Given the description of an element on the screen output the (x, y) to click on. 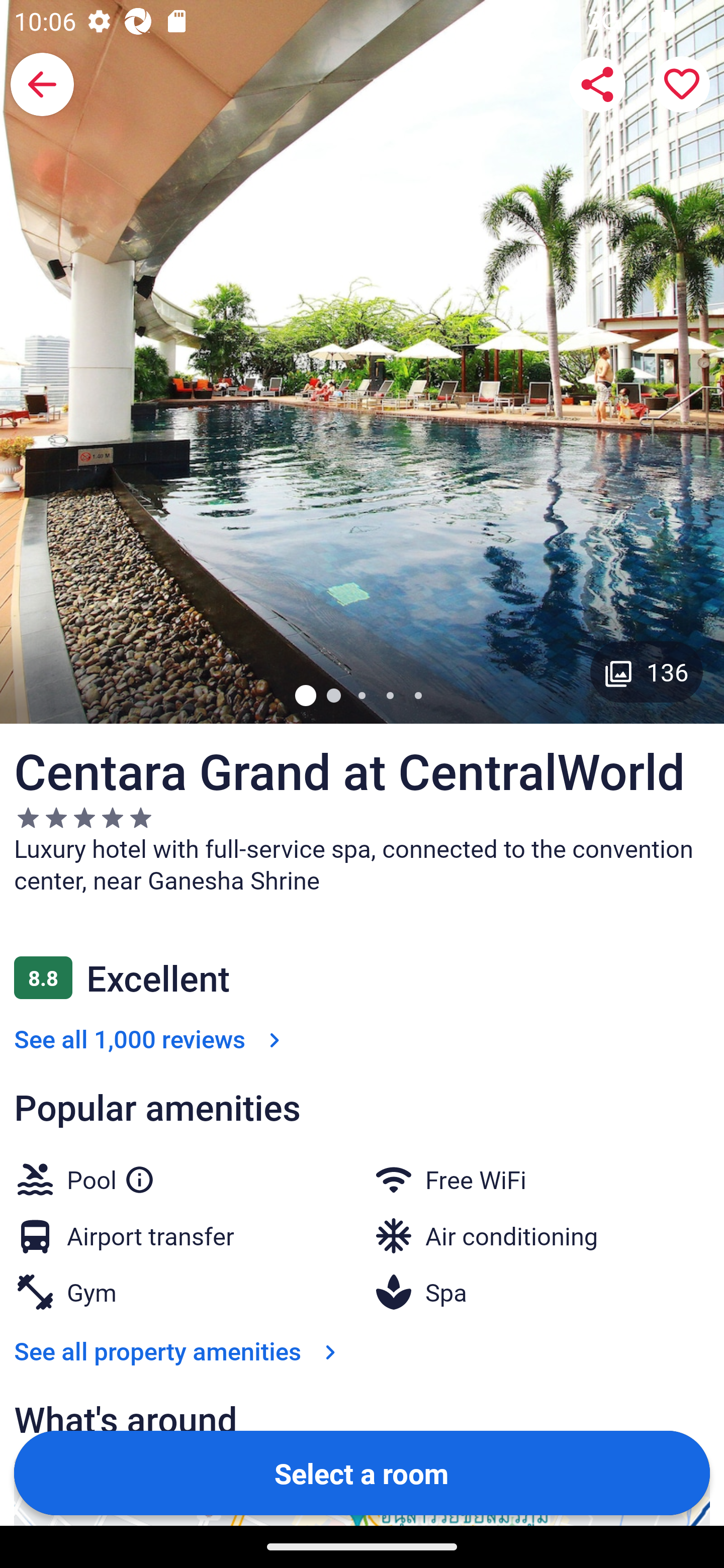
Back (42, 84)
Save property to a trip (681, 84)
Share Centara Grand at CentralWorld (597, 84)
Gallery button with 136 images (646, 671)
See all 1,000 reviews See all 1,000 reviews Link (150, 1038)
Pool (110, 1175)
See all property amenities (178, 1350)
Select a room Button Select a room (361, 1472)
